Given the description of an element on the screen output the (x, y) to click on. 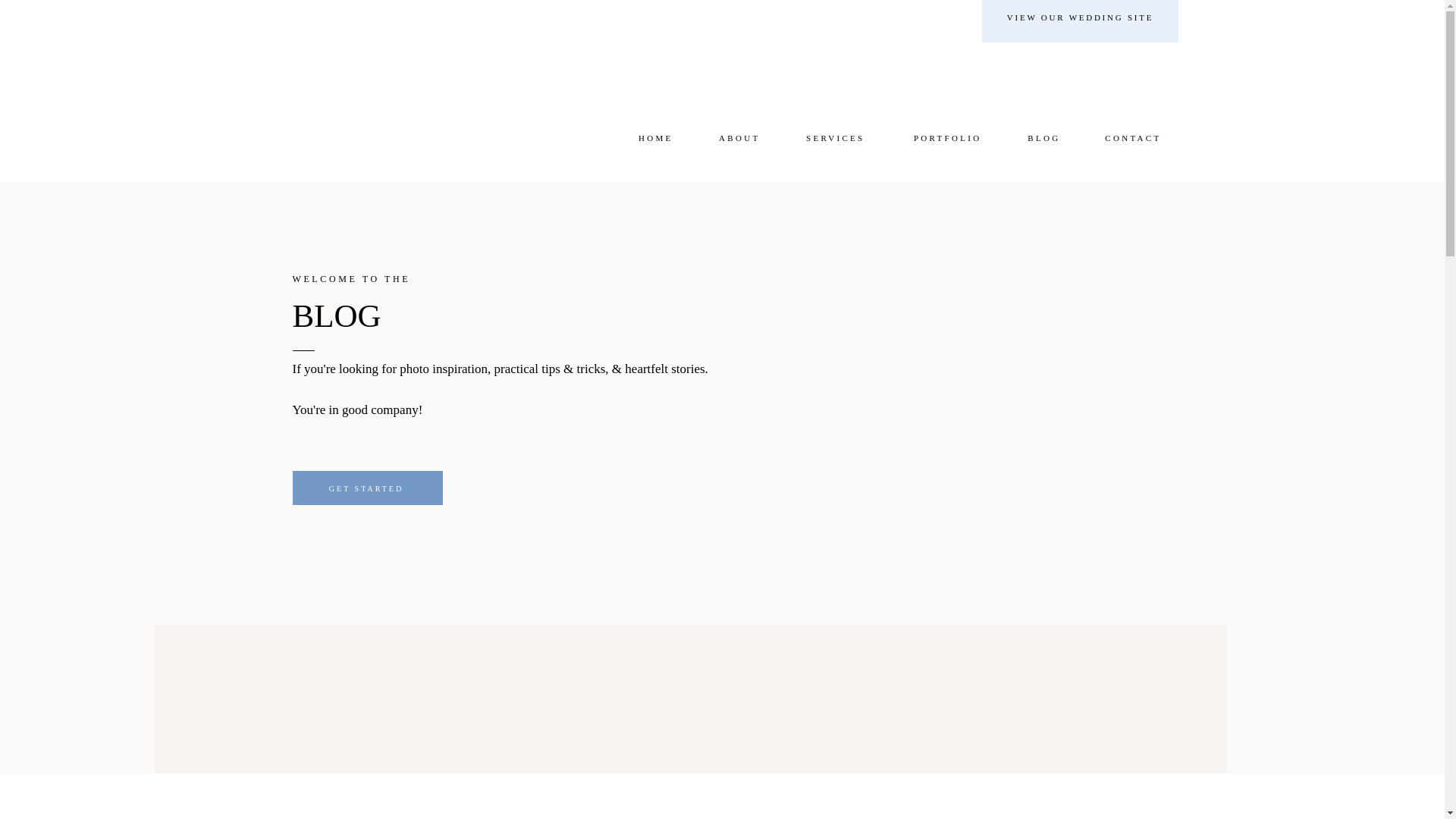
BLOG (477, 330)
CONTACT (1131, 137)
HOME (652, 137)
ABOUT (737, 137)
BLOG (1042, 137)
VIEW OUR WEDDING SITE (1079, 19)
SERVICES (833, 137)
GET STARTED (366, 491)
PORTFOLIO (944, 137)
